Given the description of an element on the screen output the (x, y) to click on. 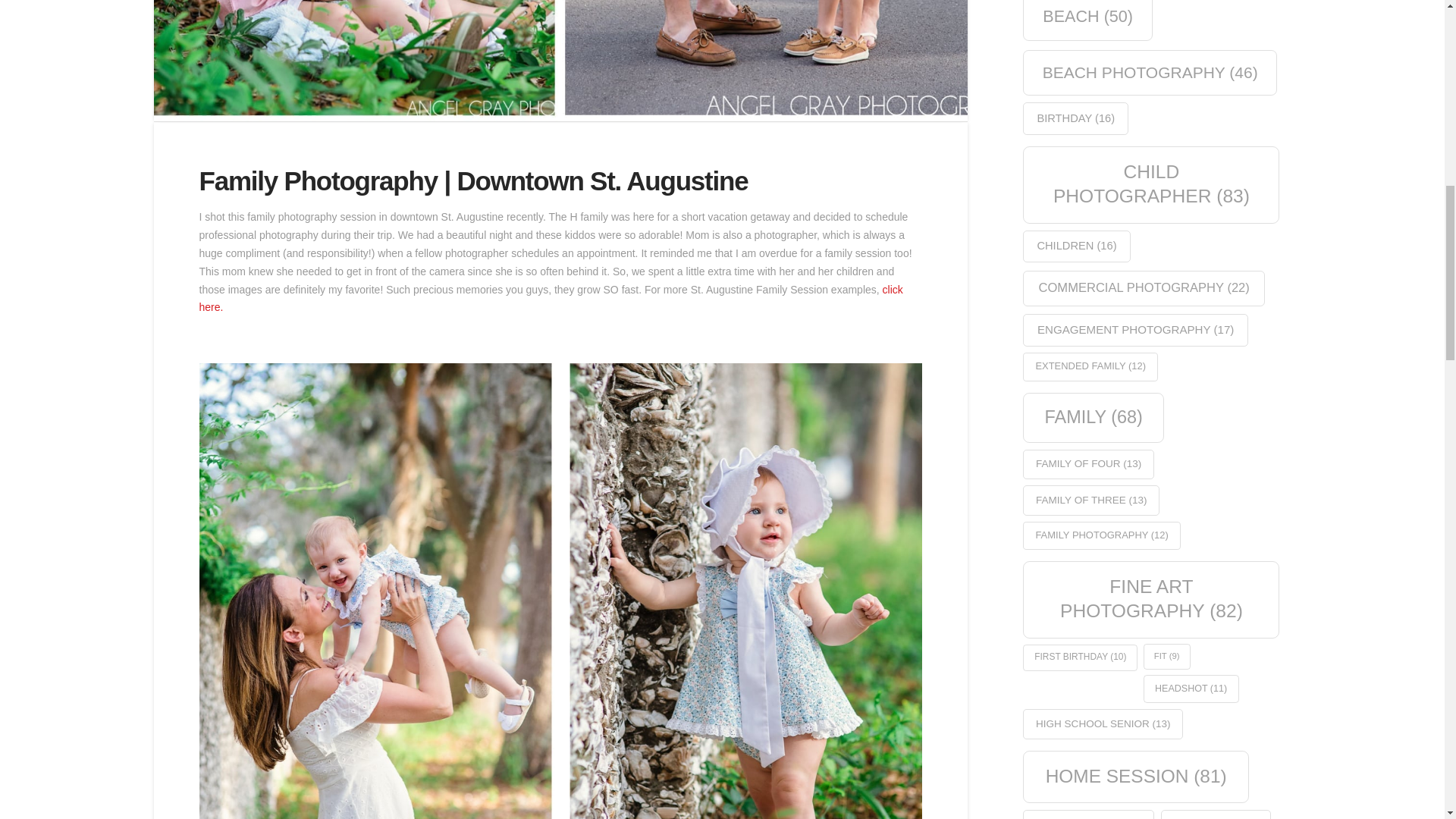
click here. (550, 298)
